Given the description of an element on the screen output the (x, y) to click on. 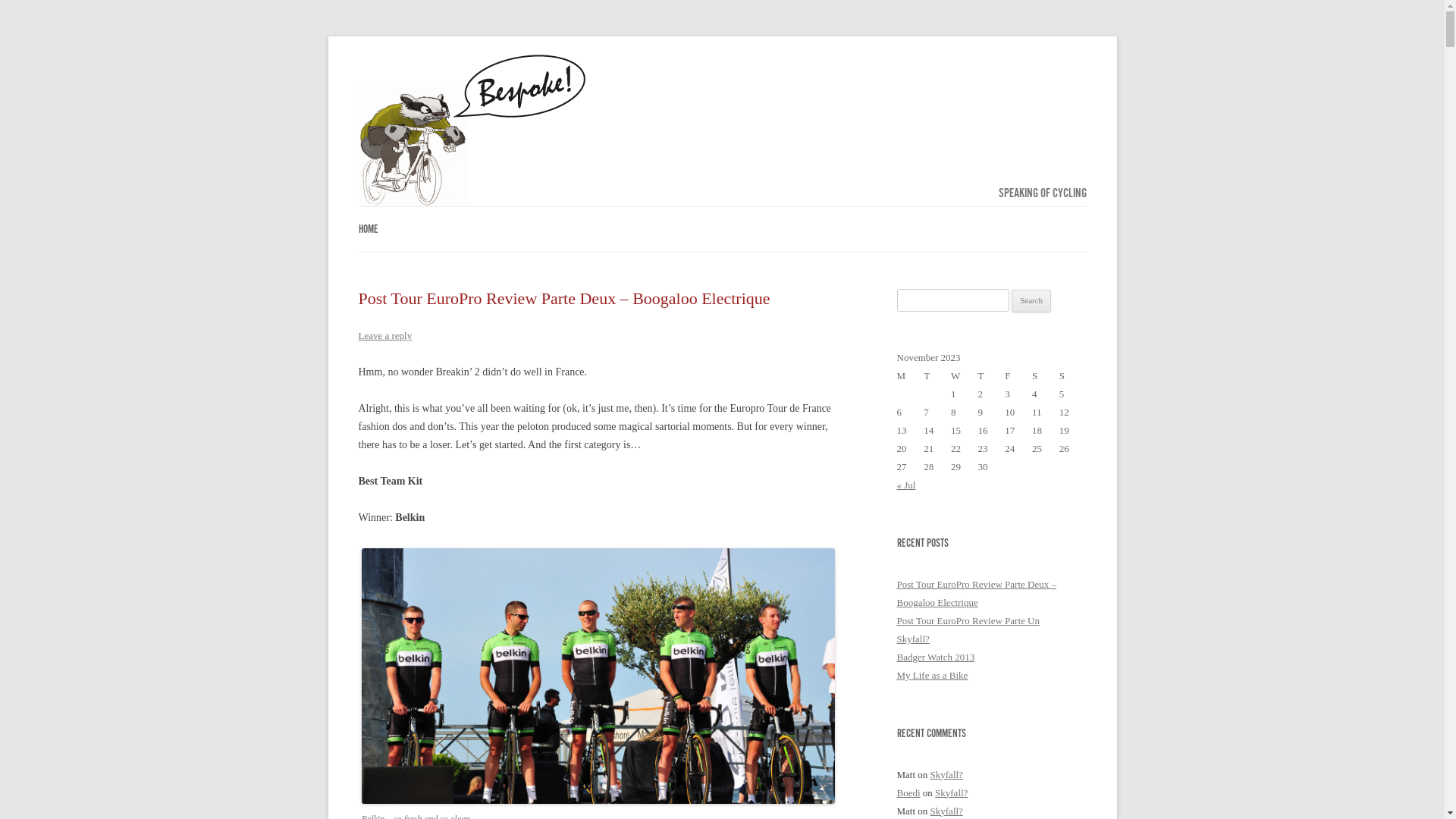
Boedi Element type: text (907, 792)
Bespoke Element type: text (471, 130)
Post Tour EuroPro Review Parte Un Element type: text (967, 620)
HOME Element type: text (367, 229)
Skyfall? Element type: text (946, 774)
Skyfall? Element type: text (912, 638)
Skip to content Element type: text (753, 211)
Skyfall? Element type: text (946, 810)
Badger Watch 2013 Element type: text (935, 656)
Leave a reply Element type: text (384, 335)
Search Element type: text (1031, 300)
My Life as a Bike Element type: text (931, 674)
Skyfall? Element type: text (951, 792)
